Given the description of an element on the screen output the (x, y) to click on. 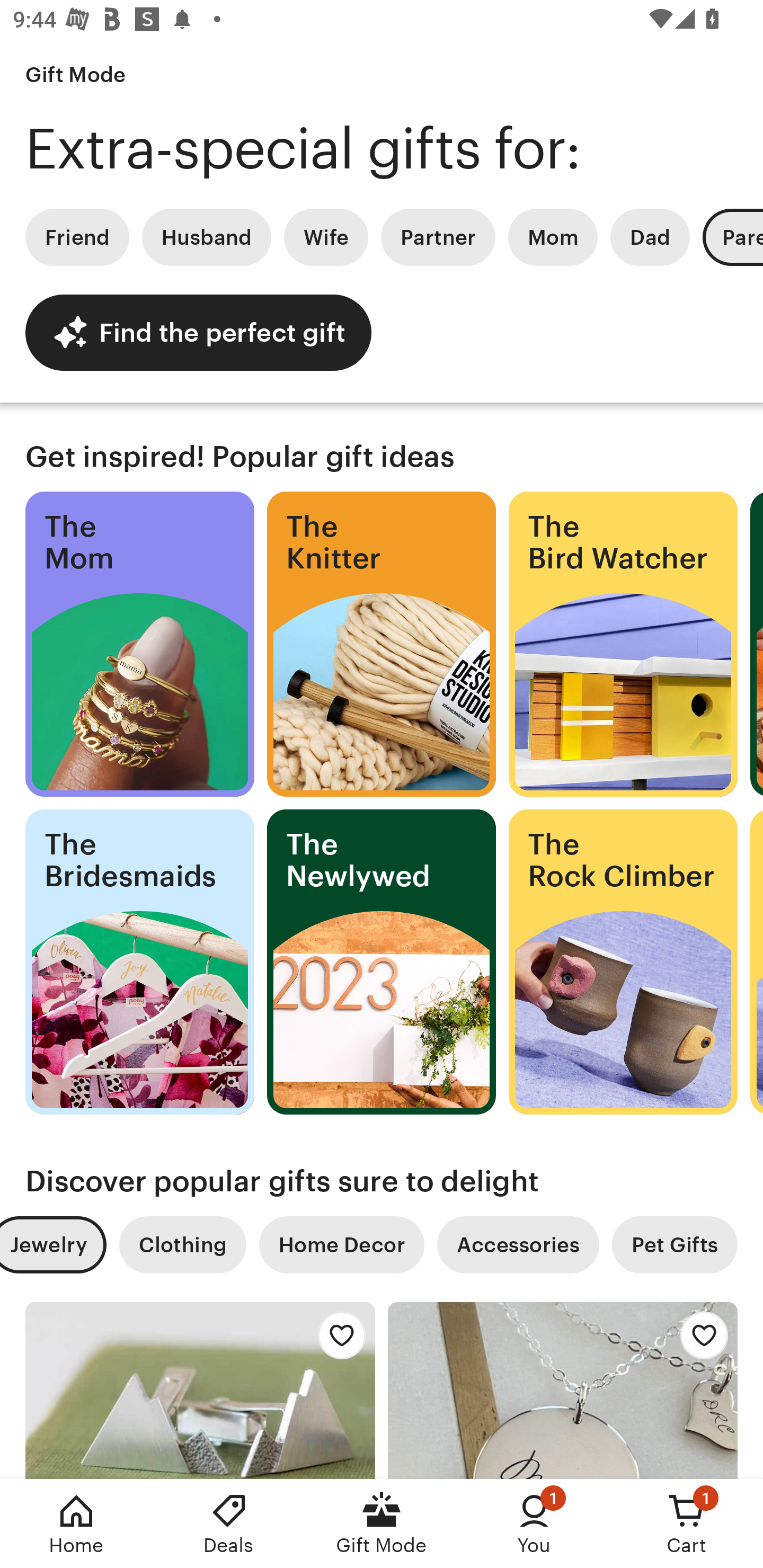
Friend (76, 237)
Husband (206, 237)
Wife (325, 237)
Partner (437, 237)
Mom (552, 237)
Dad (649, 237)
Find the perfect gift (198, 332)
The Mom (139, 644)
The Knitter (381, 644)
The Bird Watcher (622, 644)
The Bridesmaids (139, 961)
The Newlywed (381, 961)
The Rock Climber (622, 961)
Jewelry (53, 1244)
Clothing (182, 1244)
Home Decor (341, 1244)
Accessories (517, 1244)
Pet Gifts (674, 1244)
Home (76, 1523)
Deals (228, 1523)
You, 1 new notification You (533, 1523)
Cart, 1 new notification Cart (686, 1523)
